Given the description of an element on the screen output the (x, y) to click on. 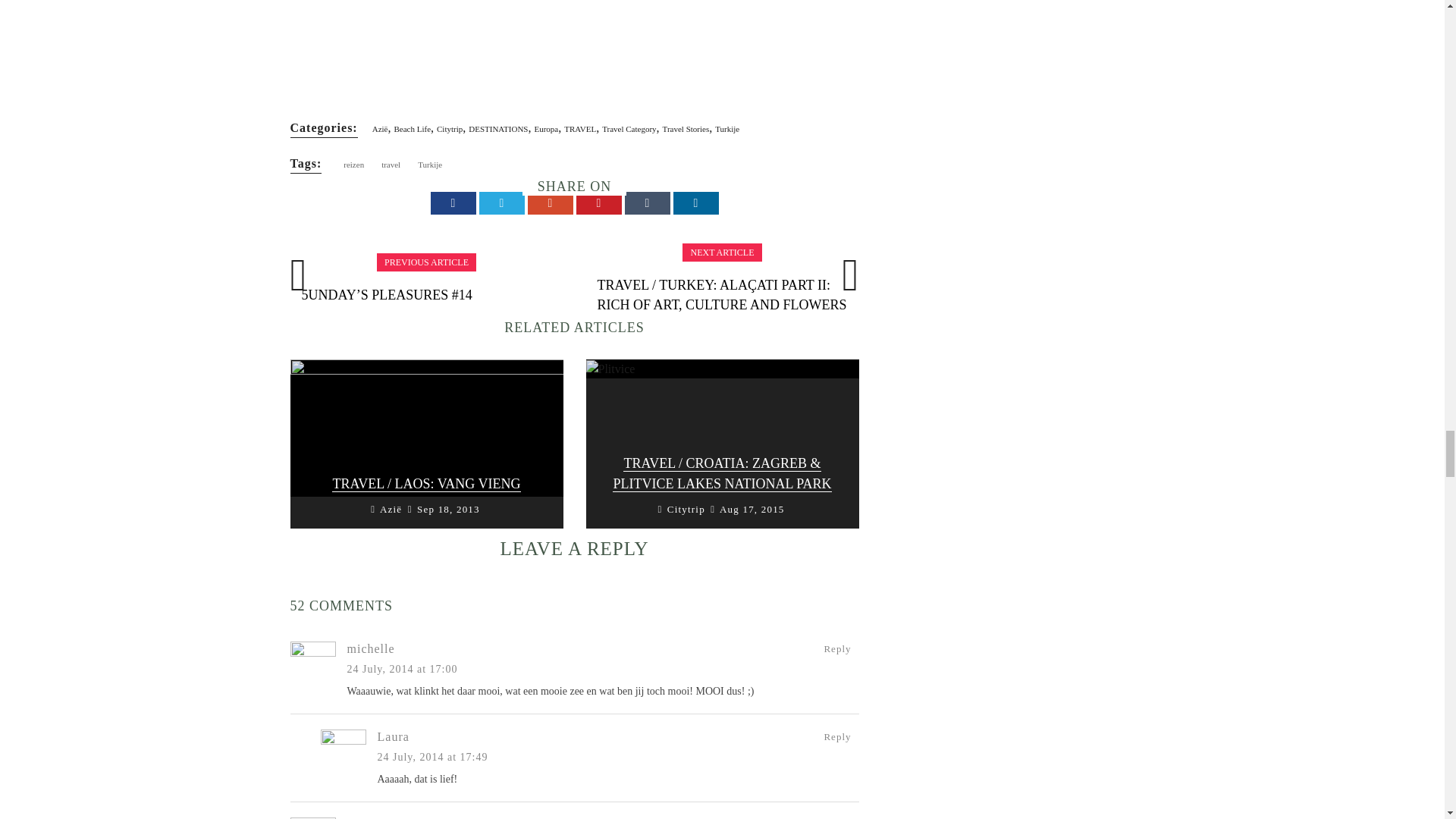
View all posts tagged reizen (353, 164)
View all posts tagged Turkije (429, 164)
View all posts tagged travel (390, 164)
